Given the description of an element on the screen output the (x, y) to click on. 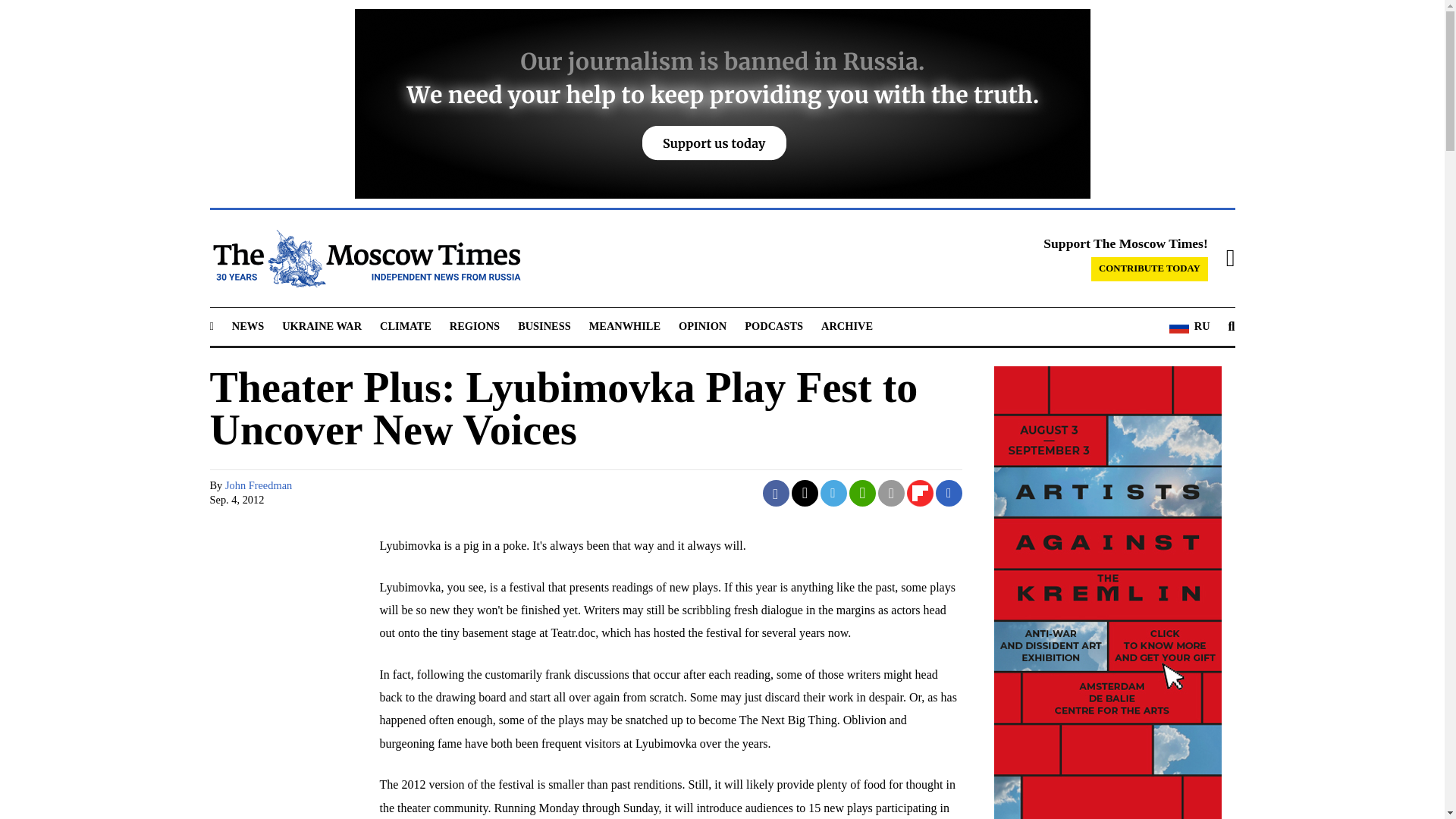
RU (1189, 326)
BUSINESS (544, 326)
Share on Facebook (775, 492)
Share on Telegram (834, 492)
NEWS (247, 326)
PODCASTS (773, 326)
ARCHIVE (846, 326)
REGIONS (474, 326)
CONTRIBUTE TODAY (1149, 269)
Share on Twitter (805, 492)
MEANWHILE (625, 326)
The Moscow Times - Independent News from Russia (364, 258)
CLIMATE (405, 326)
UKRAINE WAR (321, 326)
Share on Flipboard (920, 492)
